Given the description of an element on the screen output the (x, y) to click on. 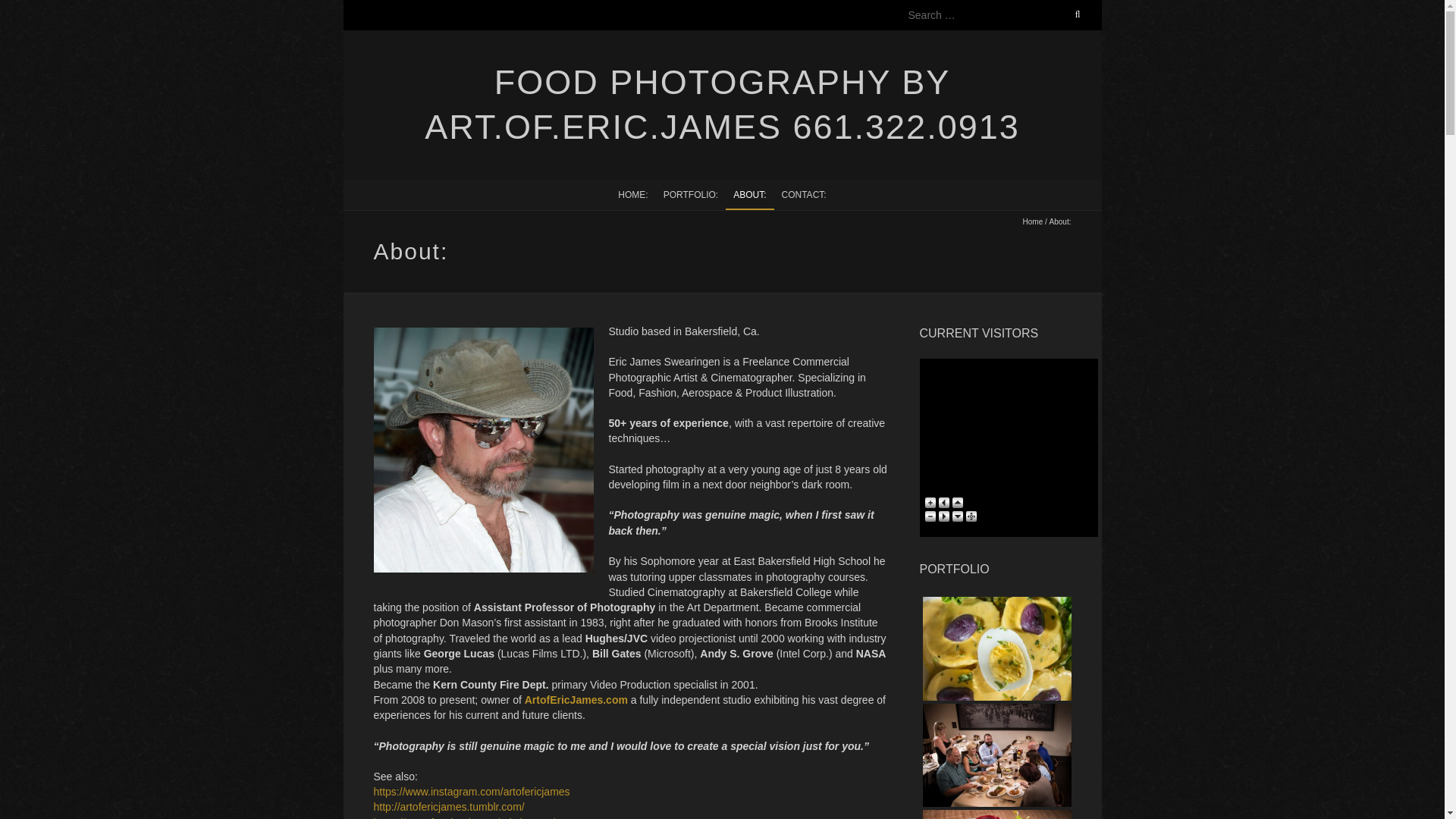
Search (28, 9)
FOOD PHOTOGRAPHY BY ART.OF.ERIC.JAMES 661.322.0913 (721, 104)
Return to Front Page (632, 193)
ArtofEricJames.com (575, 699)
PORTFOLIO: (690, 193)
Home (1033, 221)
ABOUT: (749, 193)
Food Photography by Art.of.Eric.James 661.322.0913 (721, 104)
HOME: (632, 193)
CONTACT: (804, 193)
